Given the description of an element on the screen output the (x, y) to click on. 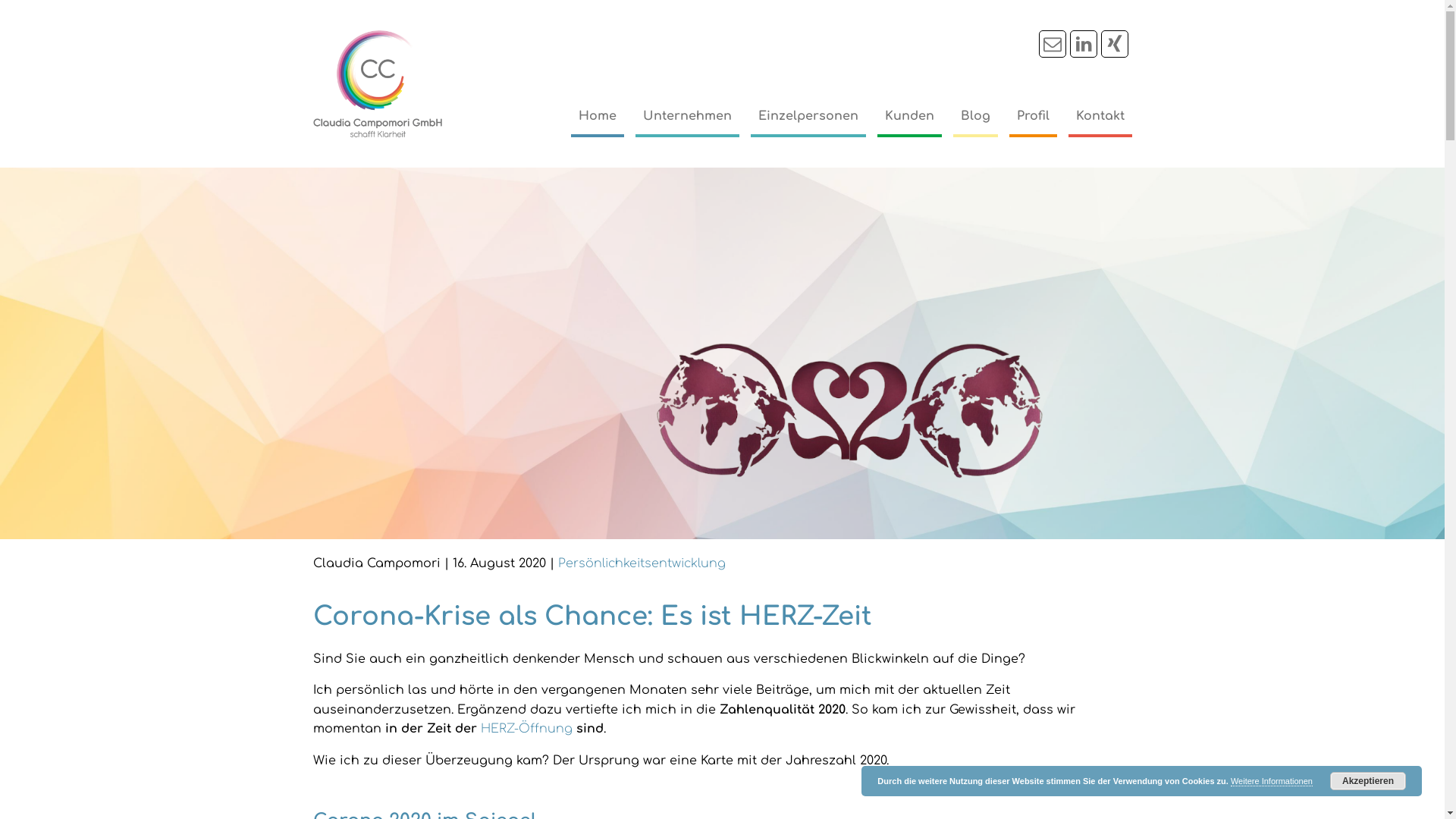
Profil Element type: text (1032, 116)
Einzelpersonen Element type: text (808, 116)
Unternehmen Element type: text (687, 116)
Akzeptieren Element type: text (1367, 780)
Kunden Element type: text (908, 116)
Home Element type: text (596, 116)
Weitere Informationen Element type: text (1271, 781)
Blog Element type: text (974, 116)
Kontakt Element type: text (1099, 116)
